Given the description of an element on the screen output the (x, y) to click on. 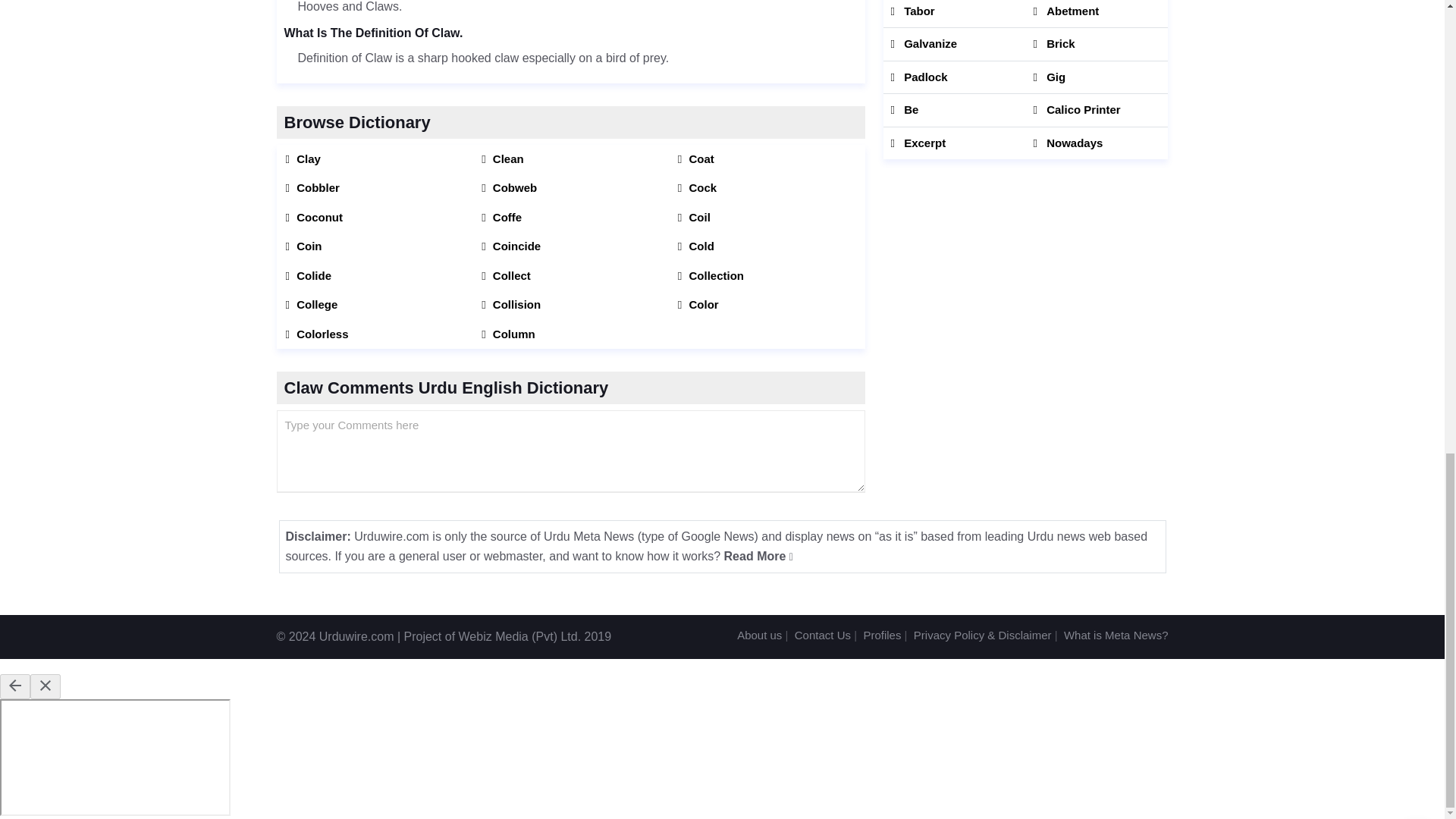
Cock (767, 188)
Clean (570, 158)
Clay (374, 158)
Cobweb (570, 188)
Cobbler (374, 188)
Coconut (374, 217)
Coat (767, 158)
